Given the description of an element on the screen output the (x, y) to click on. 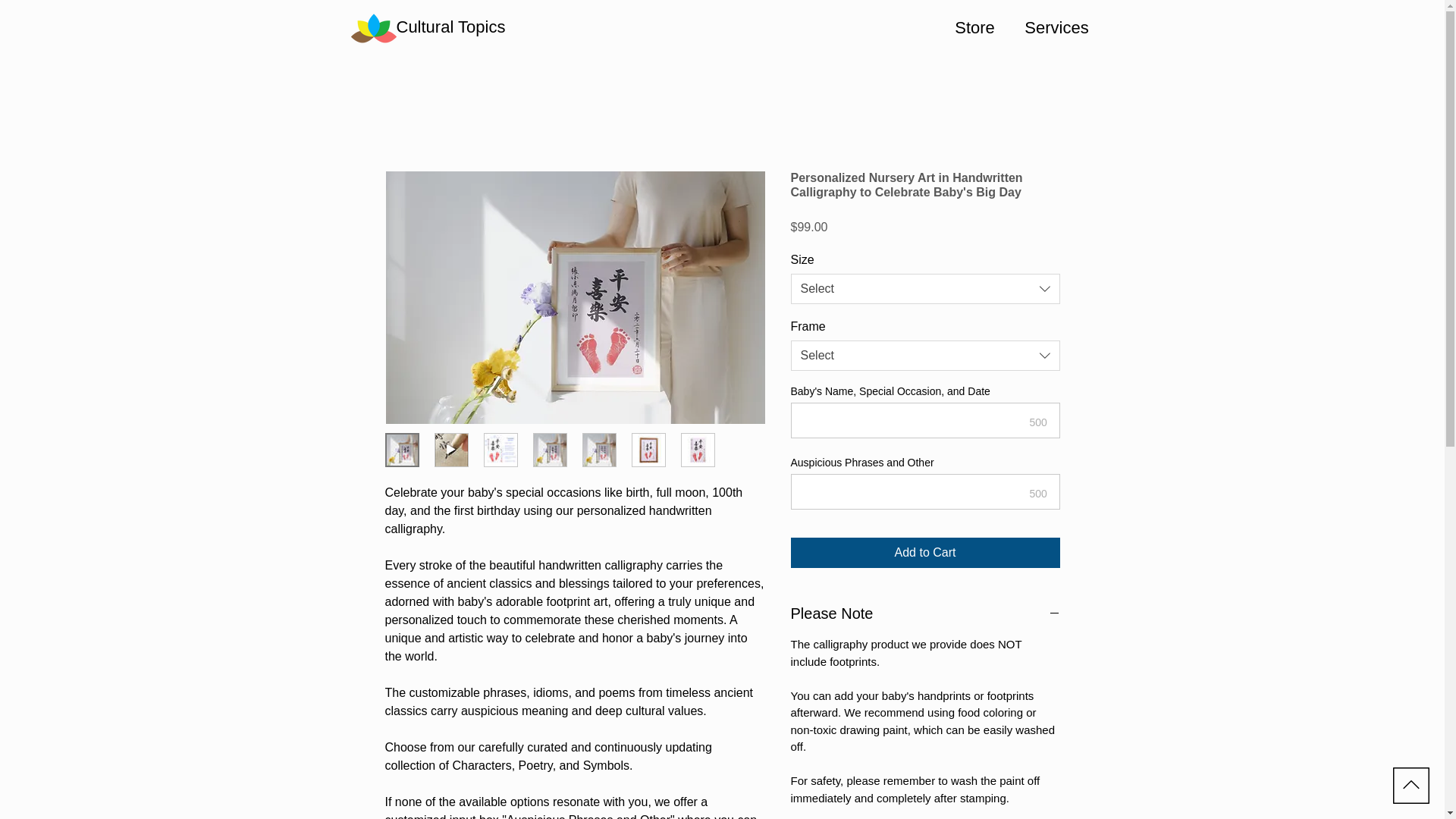
Cultural Topics (450, 26)
Store (974, 27)
Services (1056, 27)
Select (924, 355)
Select (924, 288)
Please Note (924, 613)
Add to Cart (924, 552)
